Given the description of an element on the screen output the (x, y) to click on. 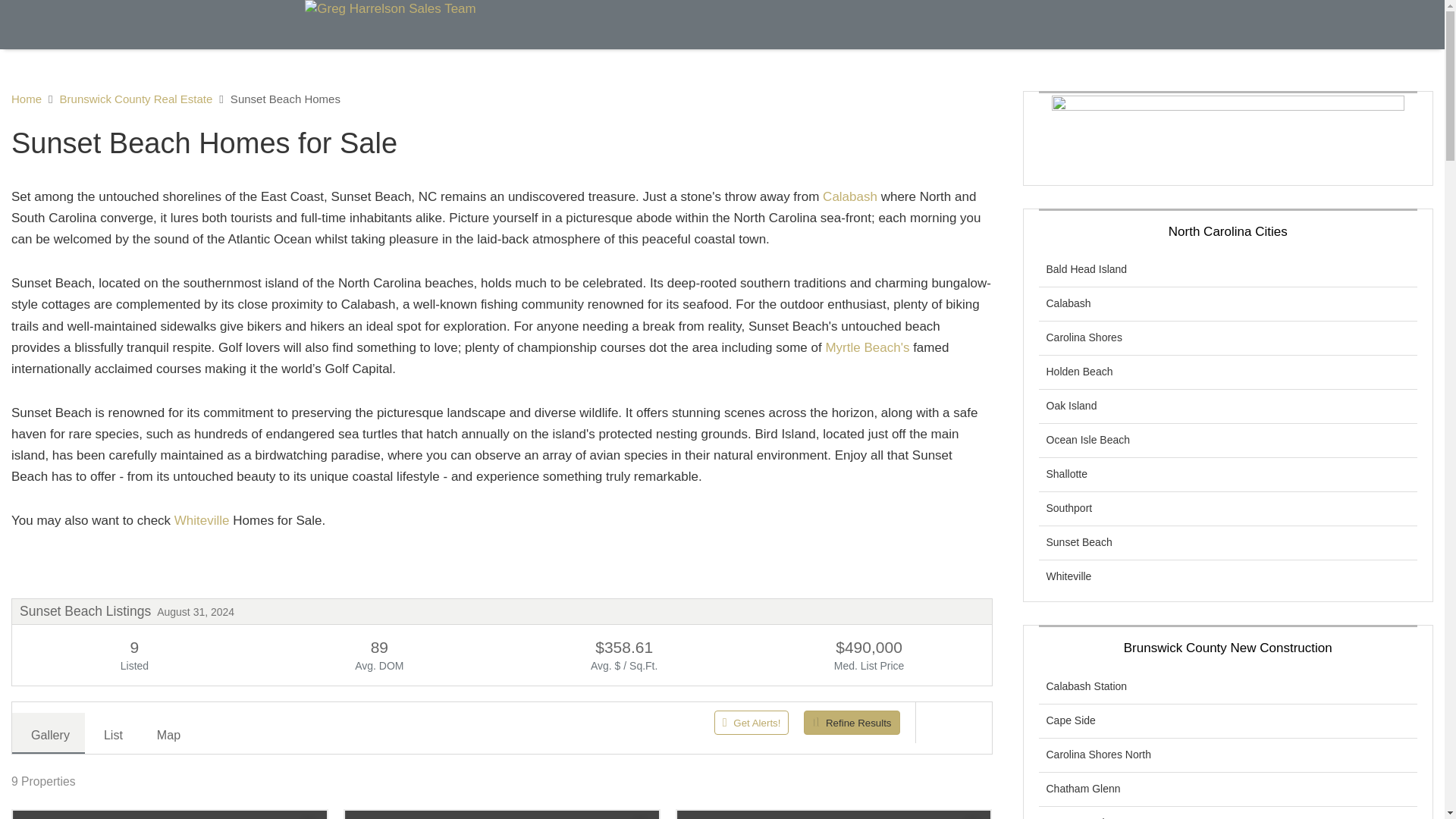
Myrtle Beach Homes for Sale (866, 347)
Whiteville Homes for Sale (202, 520)
Calabash Homes for Sale (849, 196)
